Given the description of an element on the screen output the (x, y) to click on. 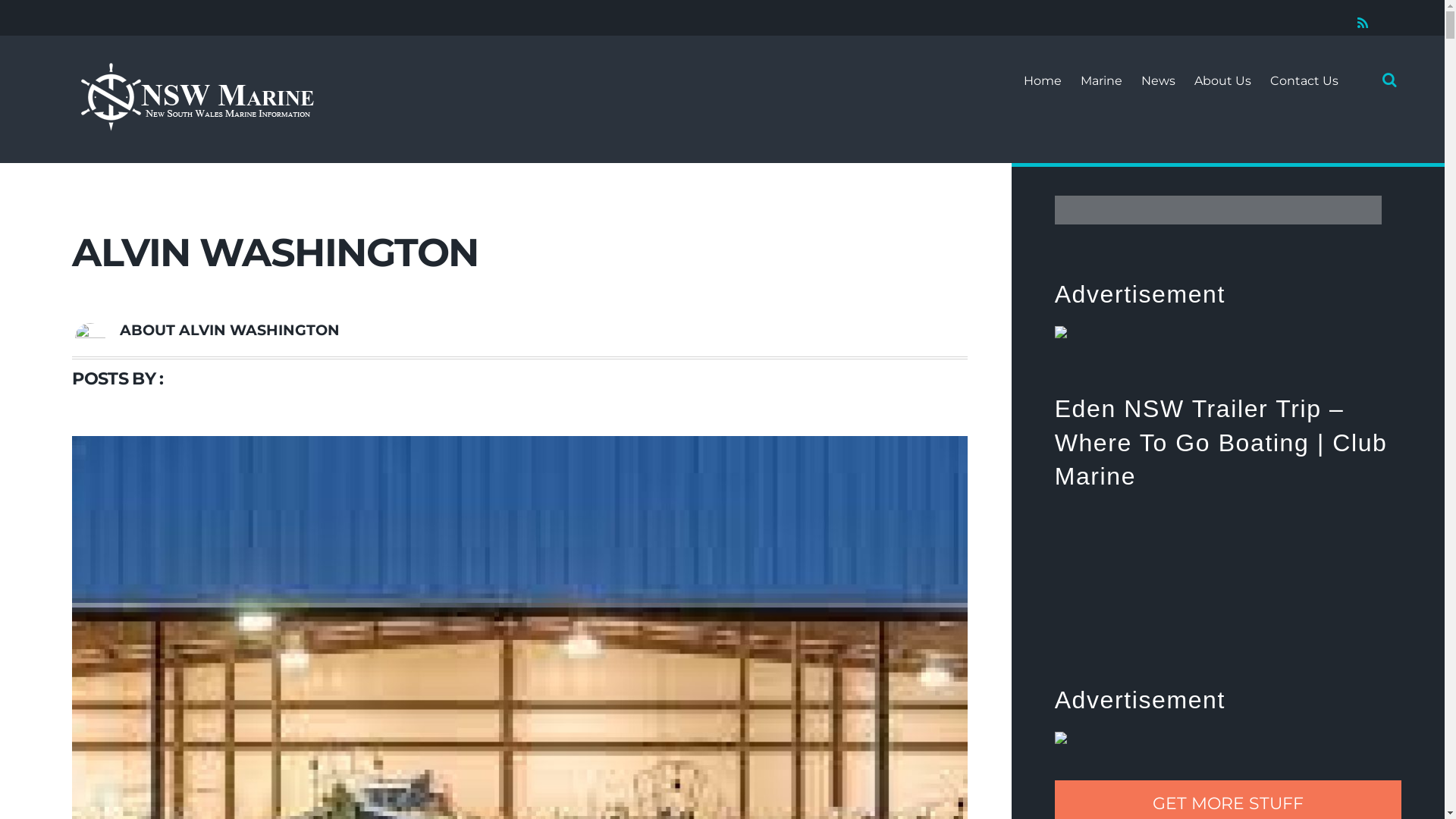
About Us Element type: text (1222, 80)
Marine Element type: text (1101, 80)
Search Element type: hover (1217, 209)
Contact Us Element type: text (1304, 80)
NSW Marine Element type: hover (195, 122)
NSW Marine Element type: hover (195, 96)
Home Element type: text (1042, 80)
News Element type: text (1158, 80)
Search Element type: hover (1386, 79)
